Given the description of an element on the screen output the (x, y) to click on. 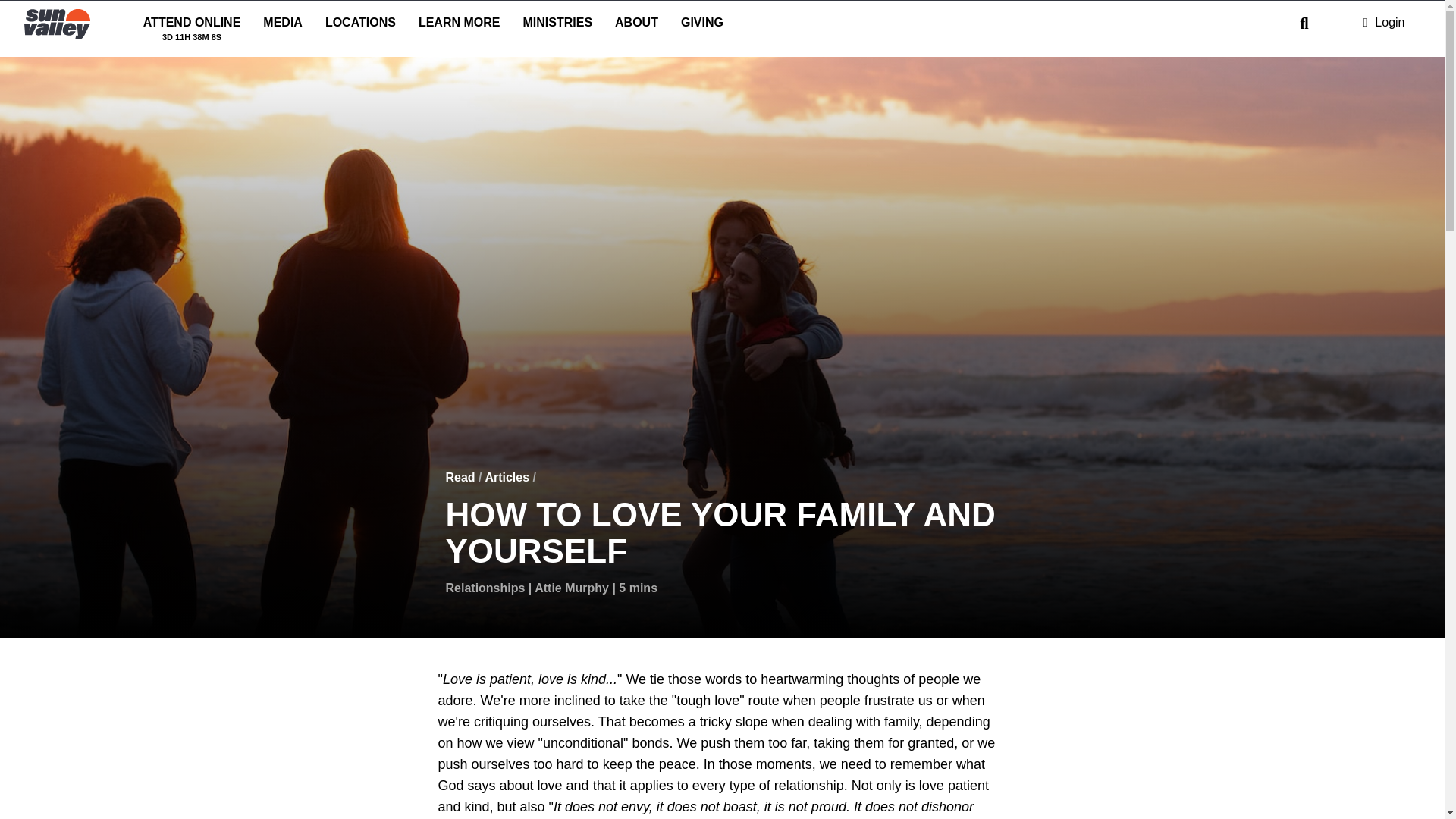
LOCATIONS (191, 25)
MEDIA (360, 25)
LEARN MORE (282, 25)
MINISTRIES (459, 25)
